Given the description of an element on the screen output the (x, y) to click on. 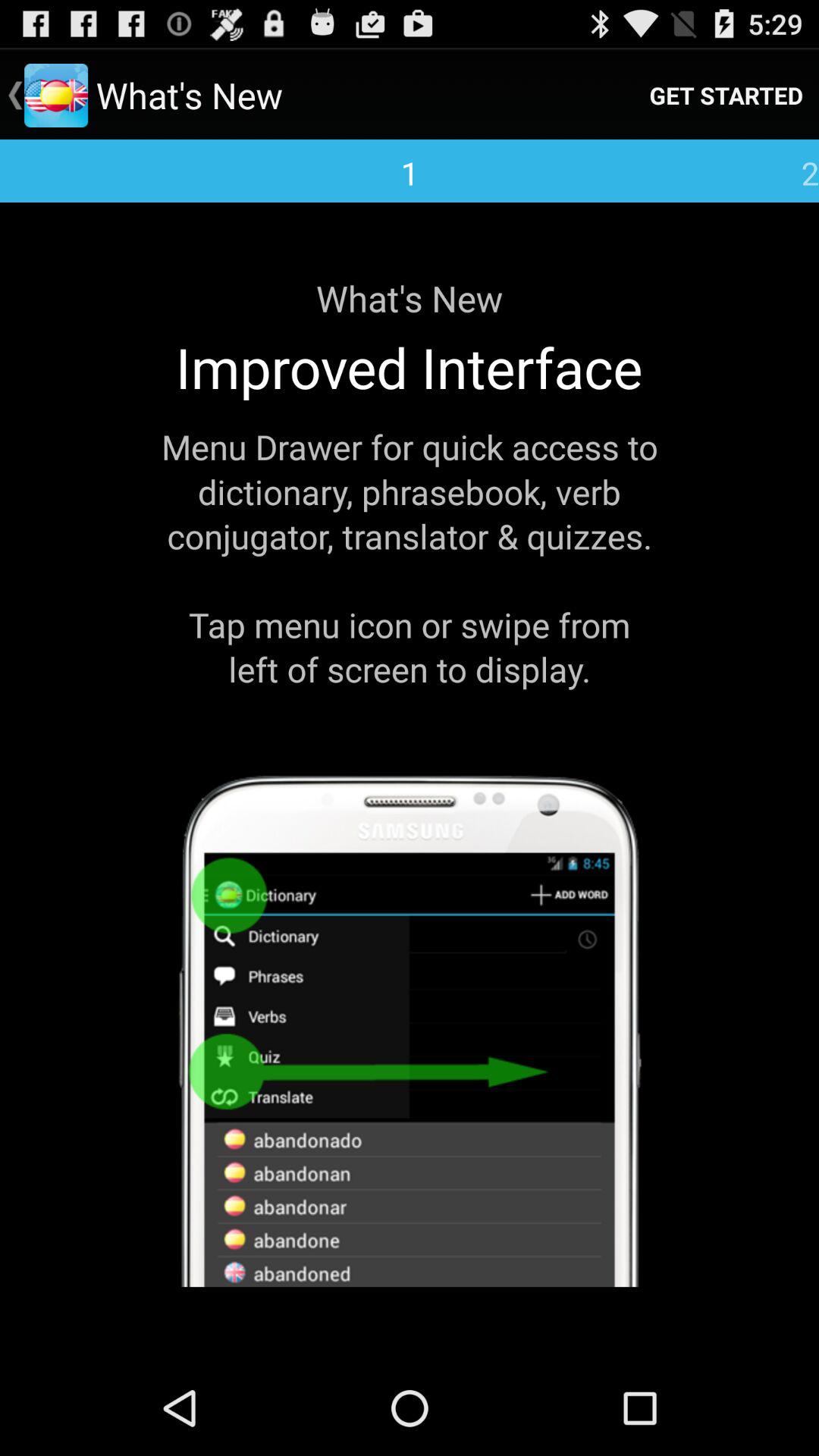
click get started item (726, 95)
